Given the description of an element on the screen output the (x, y) to click on. 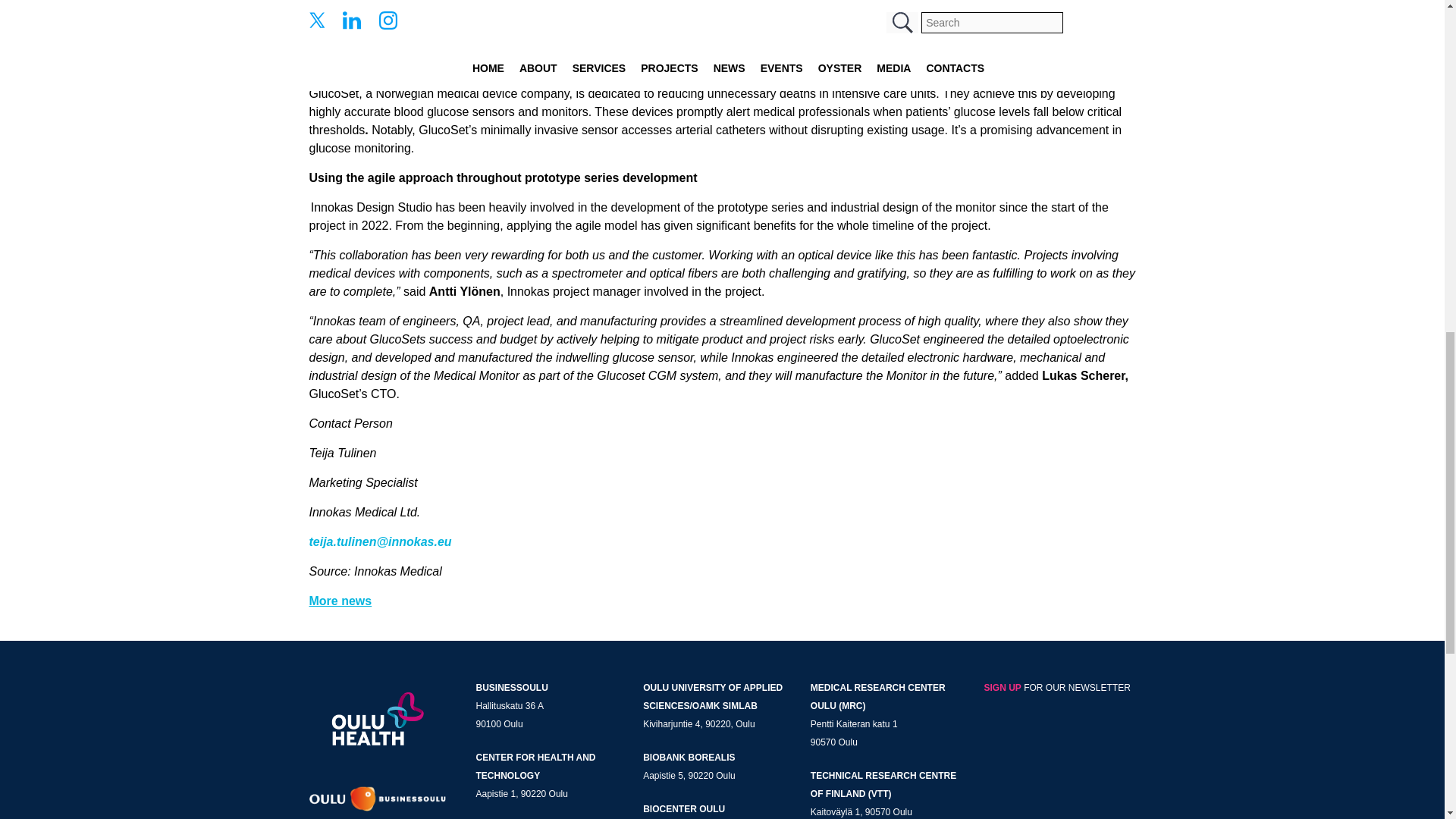
SIGN UP (1003, 687)
More news (340, 600)
